Given the description of an element on the screen output the (x, y) to click on. 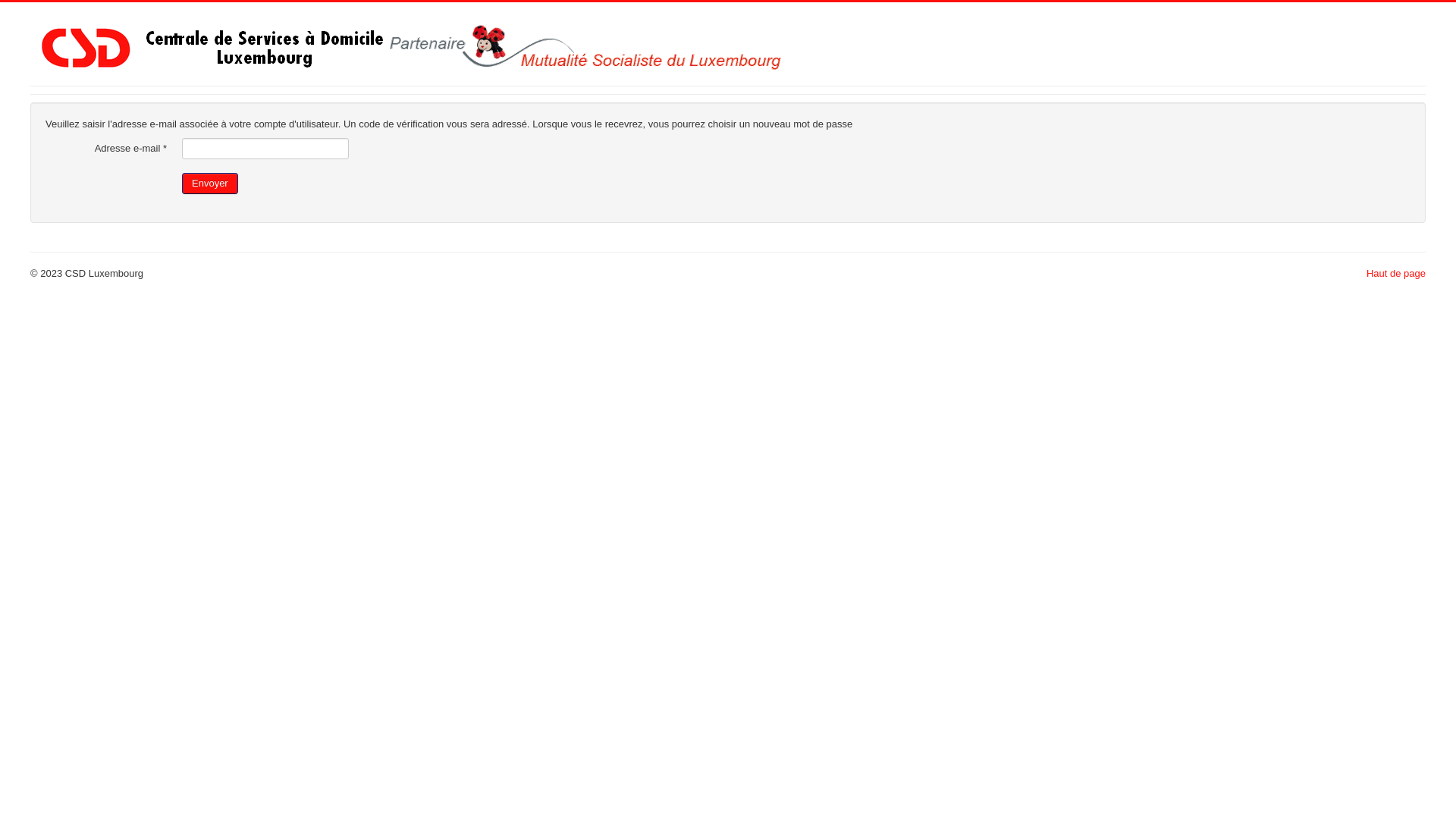
Haut de page Element type: text (1395, 273)
Envoyer Element type: text (210, 183)
